Given the description of an element on the screen output the (x, y) to click on. 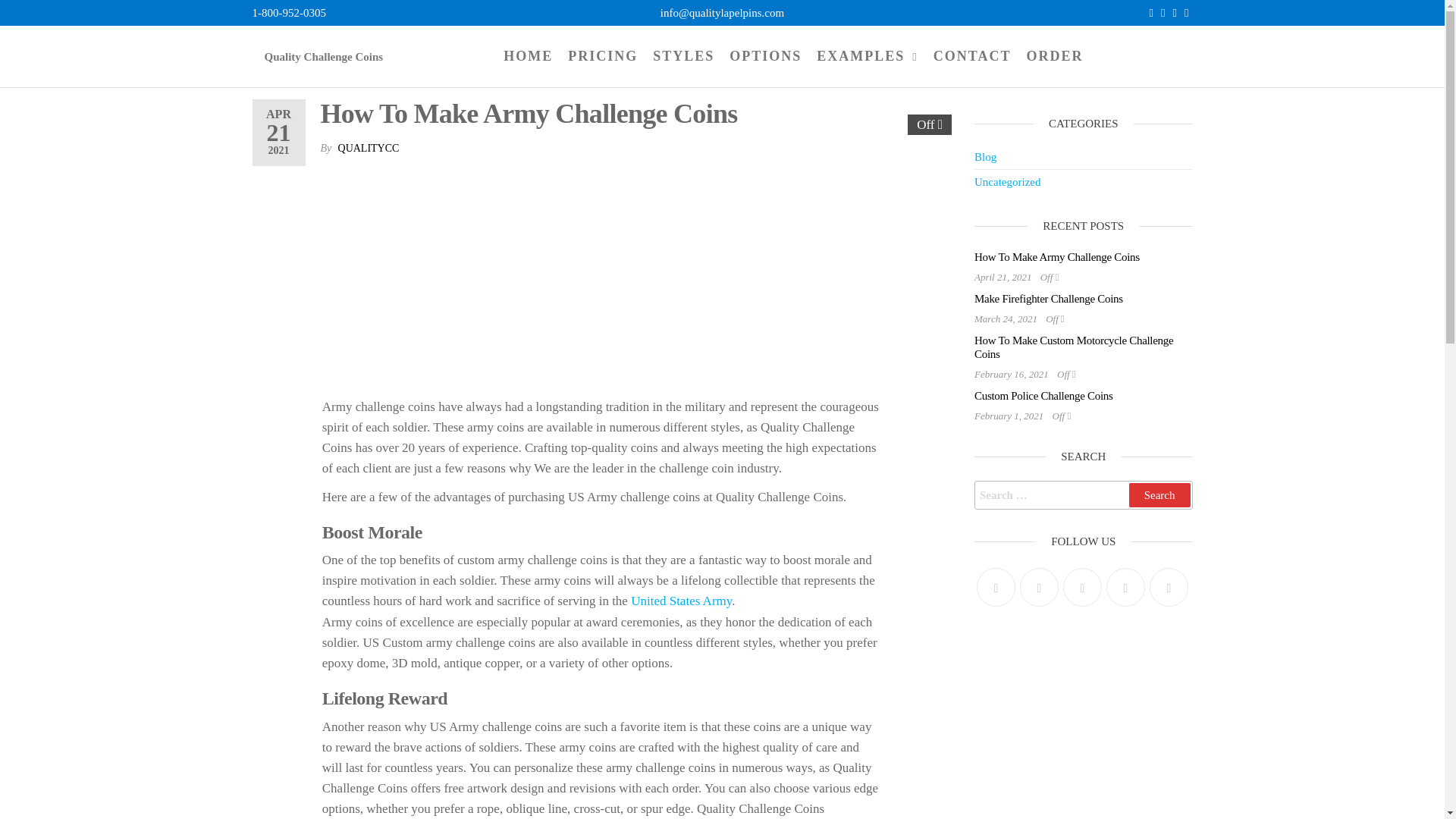
OPTIONS (765, 55)
PRICING (602, 55)
 United States Army (679, 600)
OPTIONS (765, 55)
Uncategorized (1007, 182)
HOME (528, 55)
CONTACT (972, 55)
Search (1159, 494)
STYLES (683, 55)
CONTACT (972, 55)
